Given the description of an element on the screen output the (x, y) to click on. 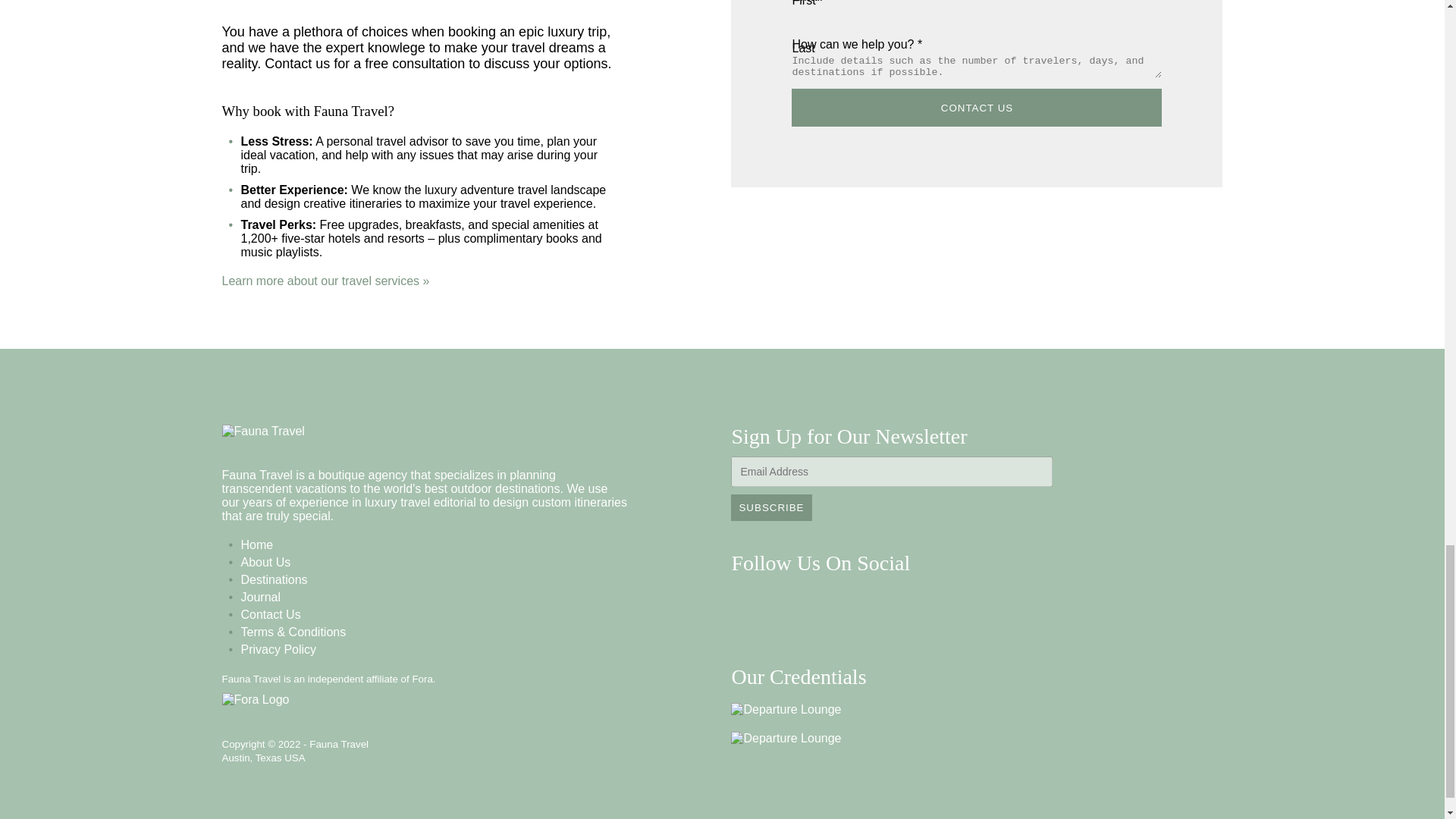
Subscribe (770, 507)
Journal (261, 596)
Subscribe (770, 507)
Contact Us (271, 614)
CONTACT US (976, 107)
Privacy Policy (279, 649)
Destinations (274, 579)
Home (257, 544)
About Us (266, 562)
Fauna Travel (262, 431)
